Given the description of an element on the screen output the (x, y) to click on. 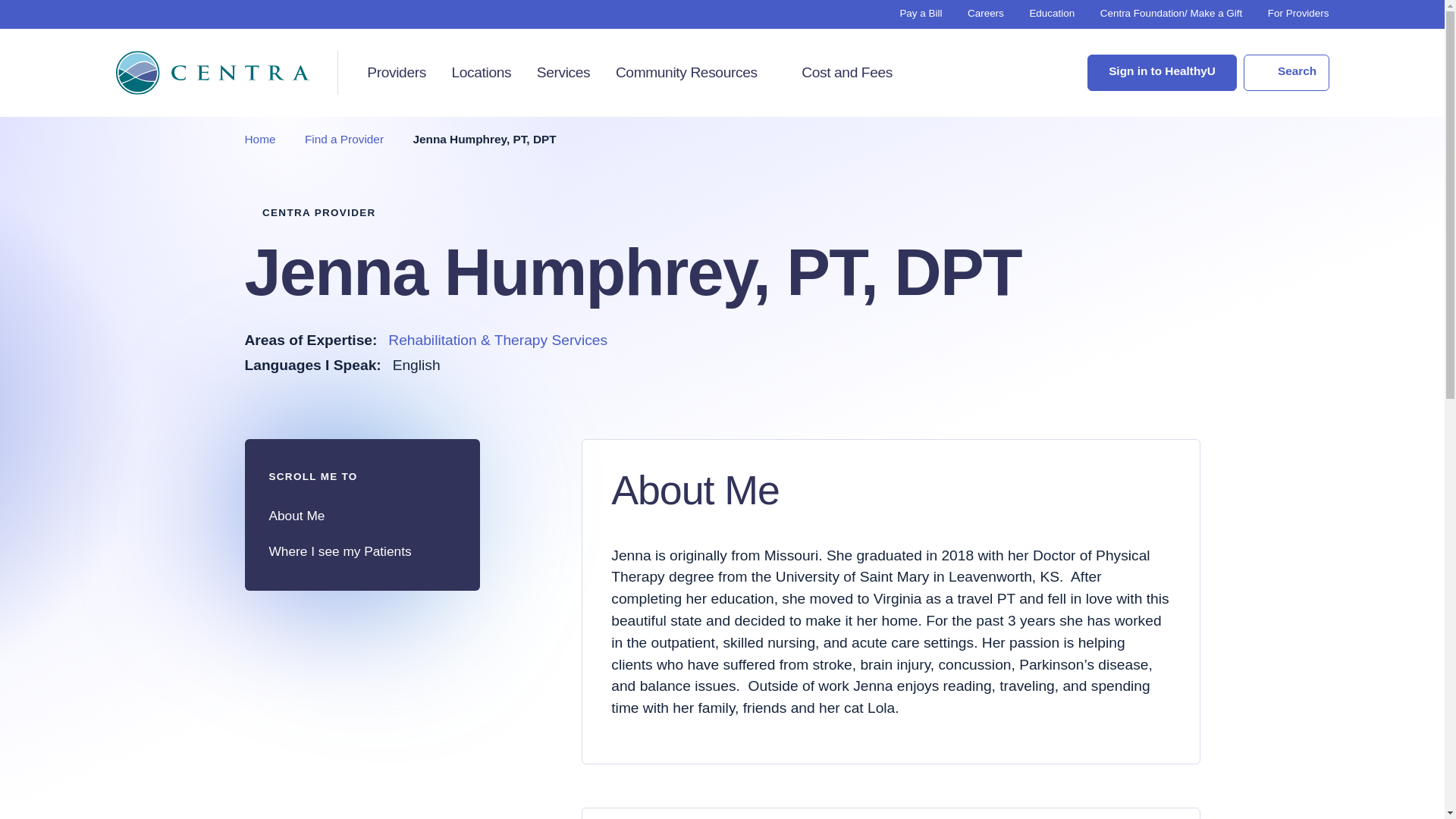
For Providers (1298, 12)
Providers (396, 73)
Education (1051, 12)
Where I see my Patients (360, 551)
Find a Provider (344, 138)
Locations (481, 73)
Search (1285, 72)
Cost and Fees (847, 73)
About Me (360, 515)
Menu Item Drawer (770, 71)
Home (259, 138)
Community Resources (686, 73)
Services (564, 73)
Sign in to HealthyU (1161, 72)
